Given the description of an element on the screen output the (x, y) to click on. 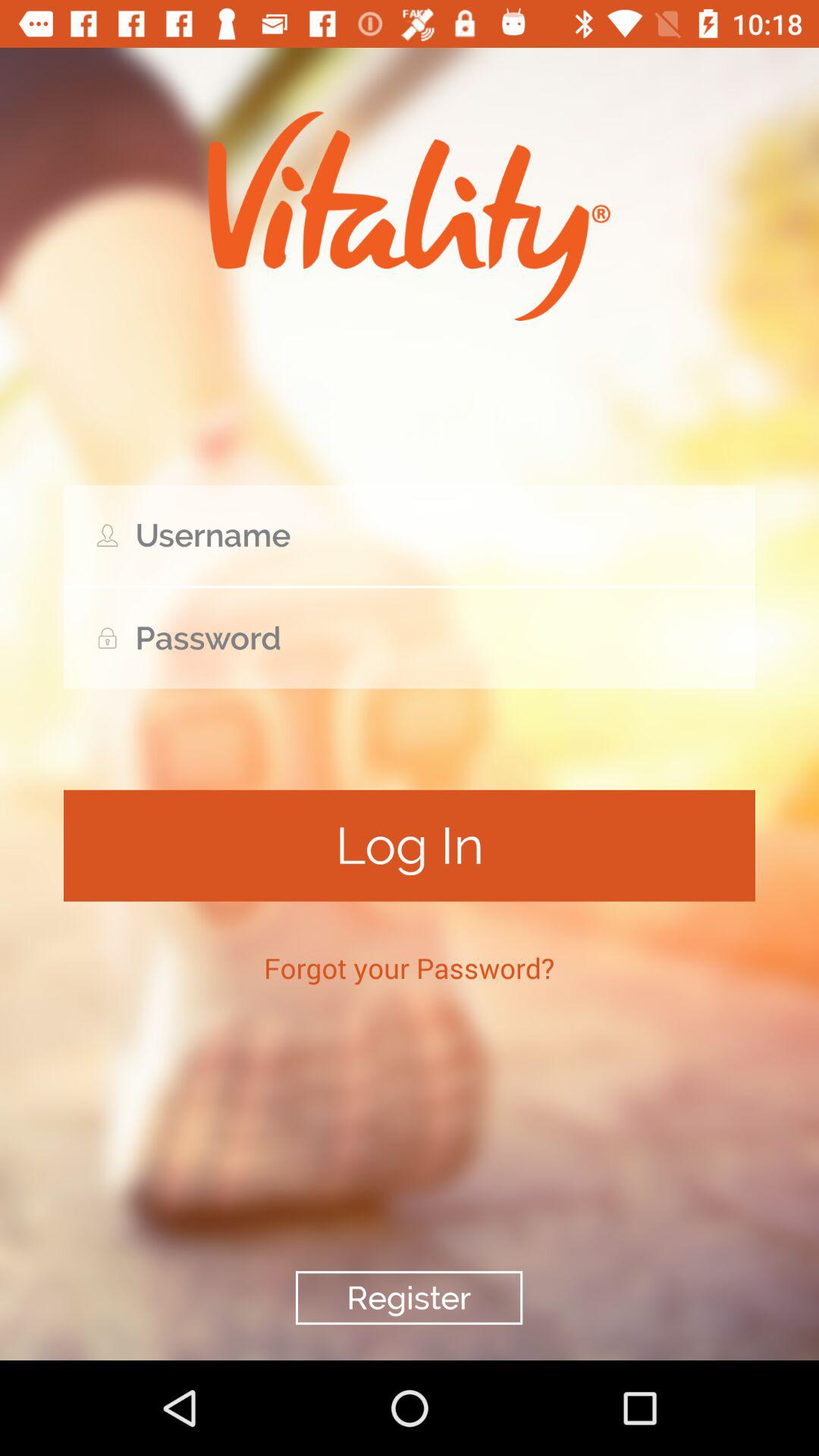
choose the icon below forgot your password? item (408, 1297)
